Given the description of an element on the screen output the (x, y) to click on. 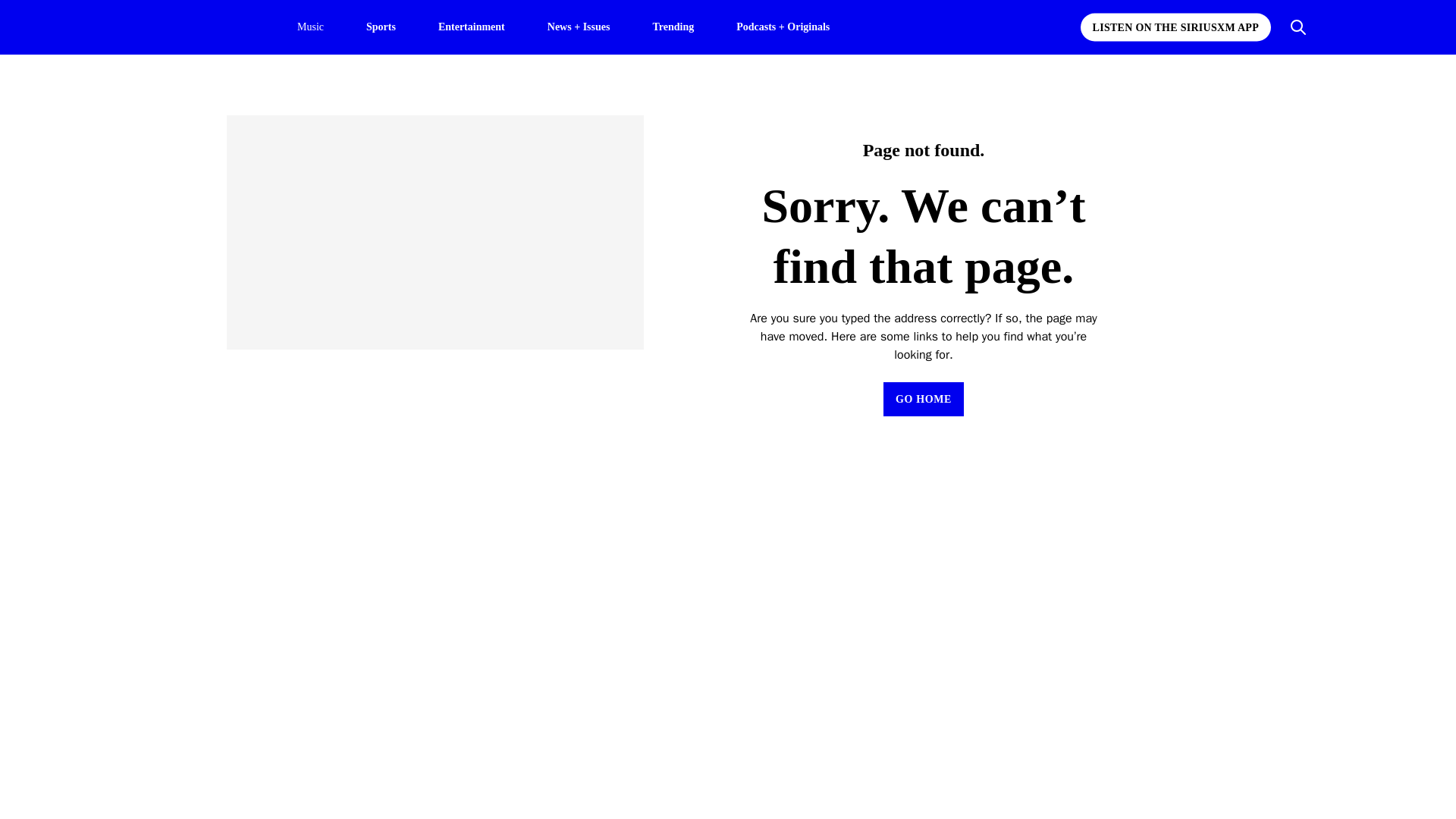
GO HOME (923, 399)
Entertainment (471, 26)
Sports (381, 26)
LISTEN ON THE SIRIUSXM APP (1175, 27)
Trending (673, 26)
Music (310, 26)
